Given the description of an element on the screen output the (x, y) to click on. 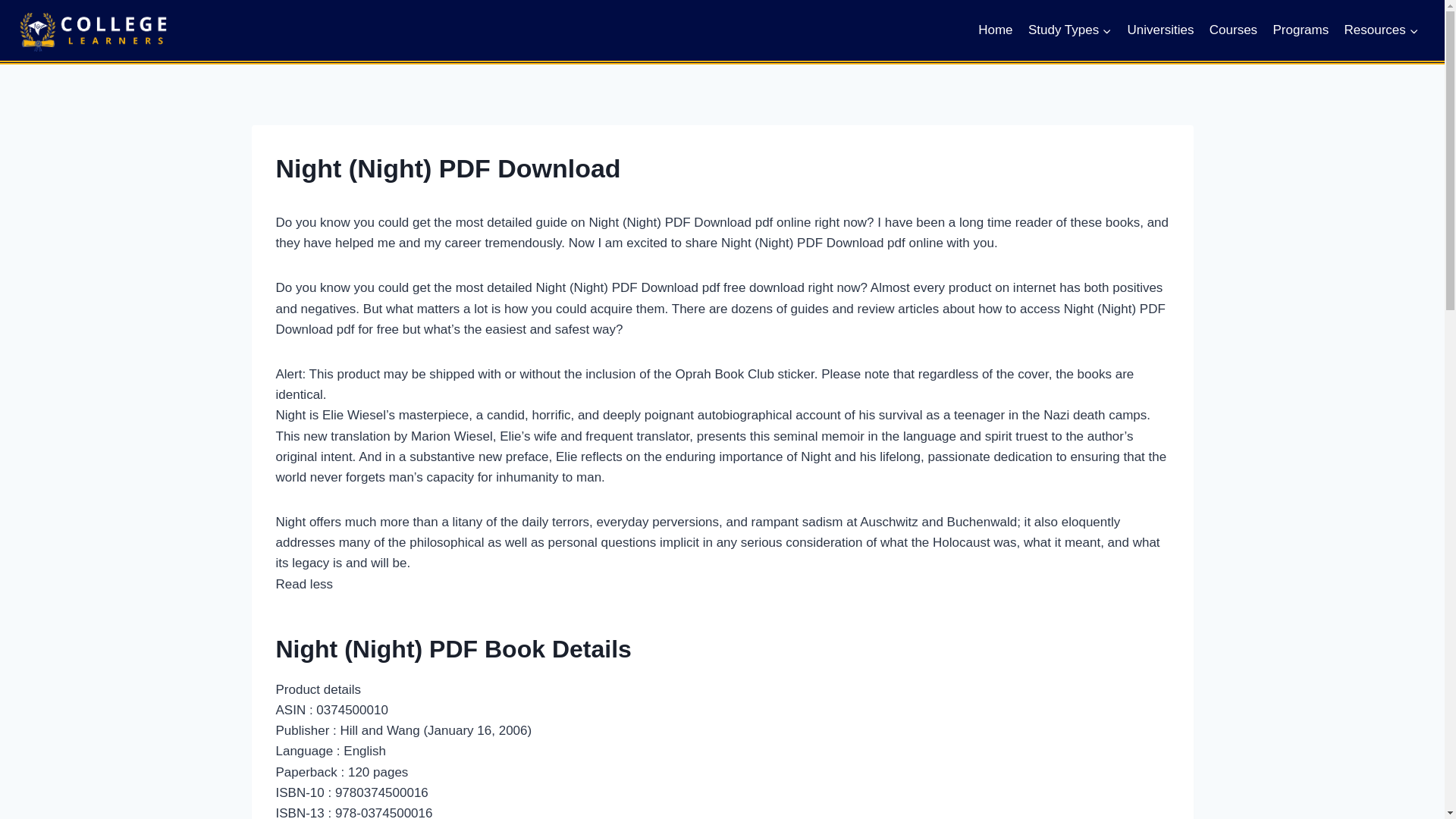
Home (995, 30)
Courses (1233, 30)
Study Types (1069, 30)
Programs (1300, 30)
Universities (1160, 30)
Resources (1381, 30)
